Given the description of an element on the screen output the (x, y) to click on. 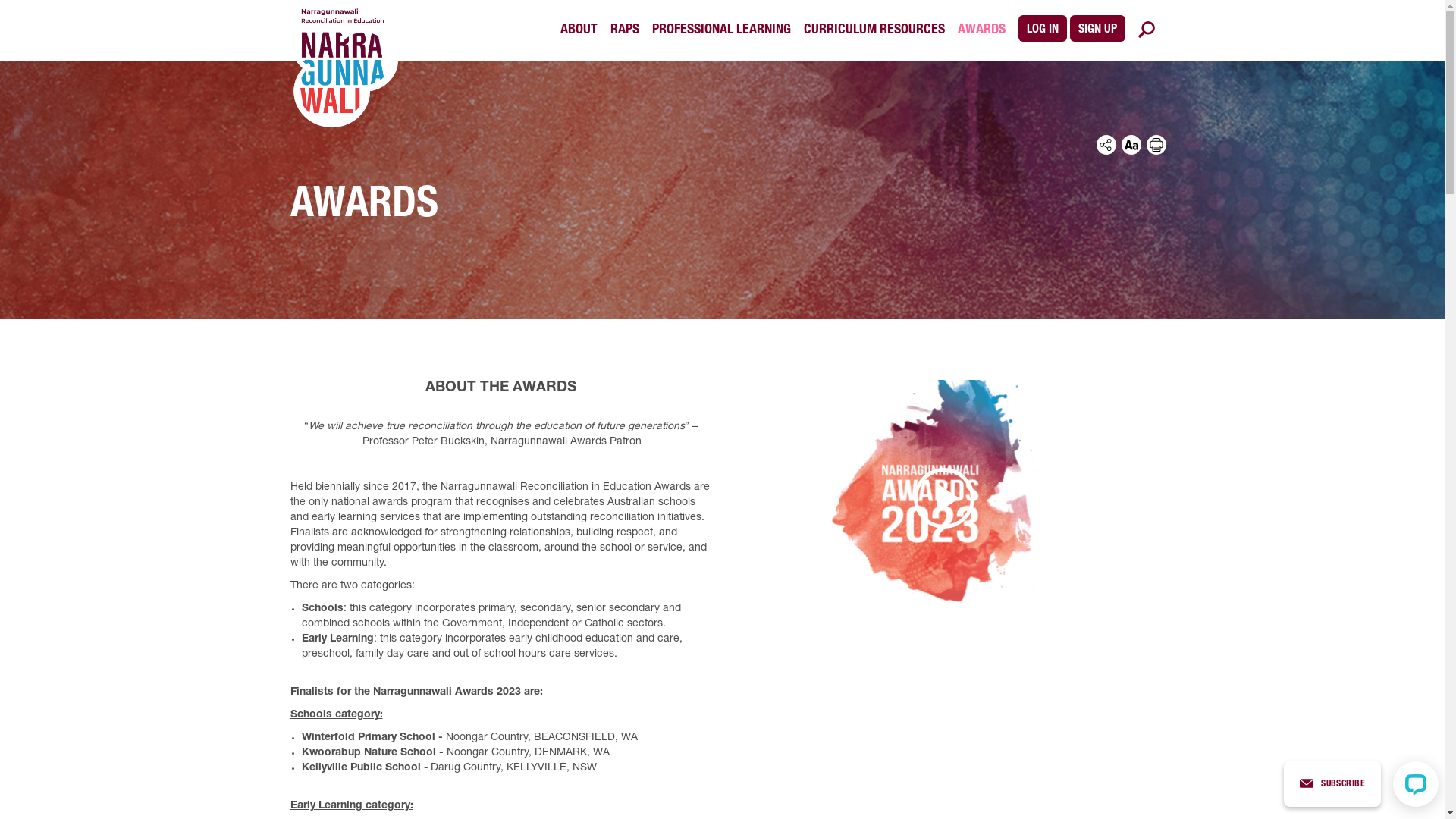
RAPS Element type: text (623, 30)
Play video Element type: text (944, 497)
AWARDS Element type: text (980, 30)
PROFESSIONAL LEARNING Element type: text (721, 30)
CURRICULUM RESOURCES Element type: text (873, 30)
LOG IN Element type: text (1041, 28)
ABOUT Element type: text (577, 30)
SIGN UP Element type: text (1096, 28)
